Given the description of an element on the screen output the (x, y) to click on. 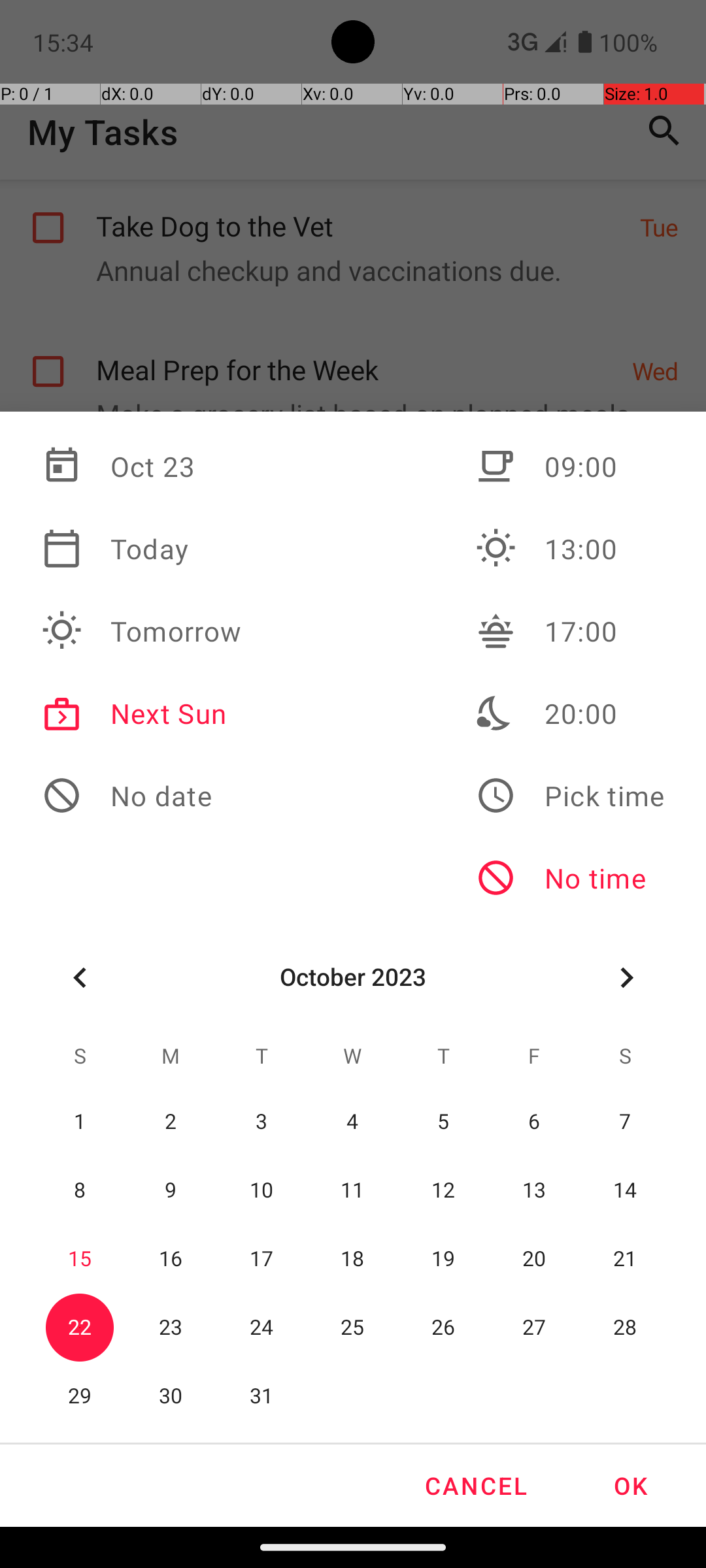
Oct 23 Element type: android.widget.CompoundButton (141, 466)
Tomorrow Element type: android.widget.CompoundButton (141, 630)
Next Sun Element type: android.widget.CompoundButton (141, 713)
No date Element type: android.widget.CompoundButton (141, 795)
20:00 Element type: android.widget.CompoundButton (569, 713)
No time Element type: android.widget.CompoundButton (569, 877)
